Given the description of an element on the screen output the (x, y) to click on. 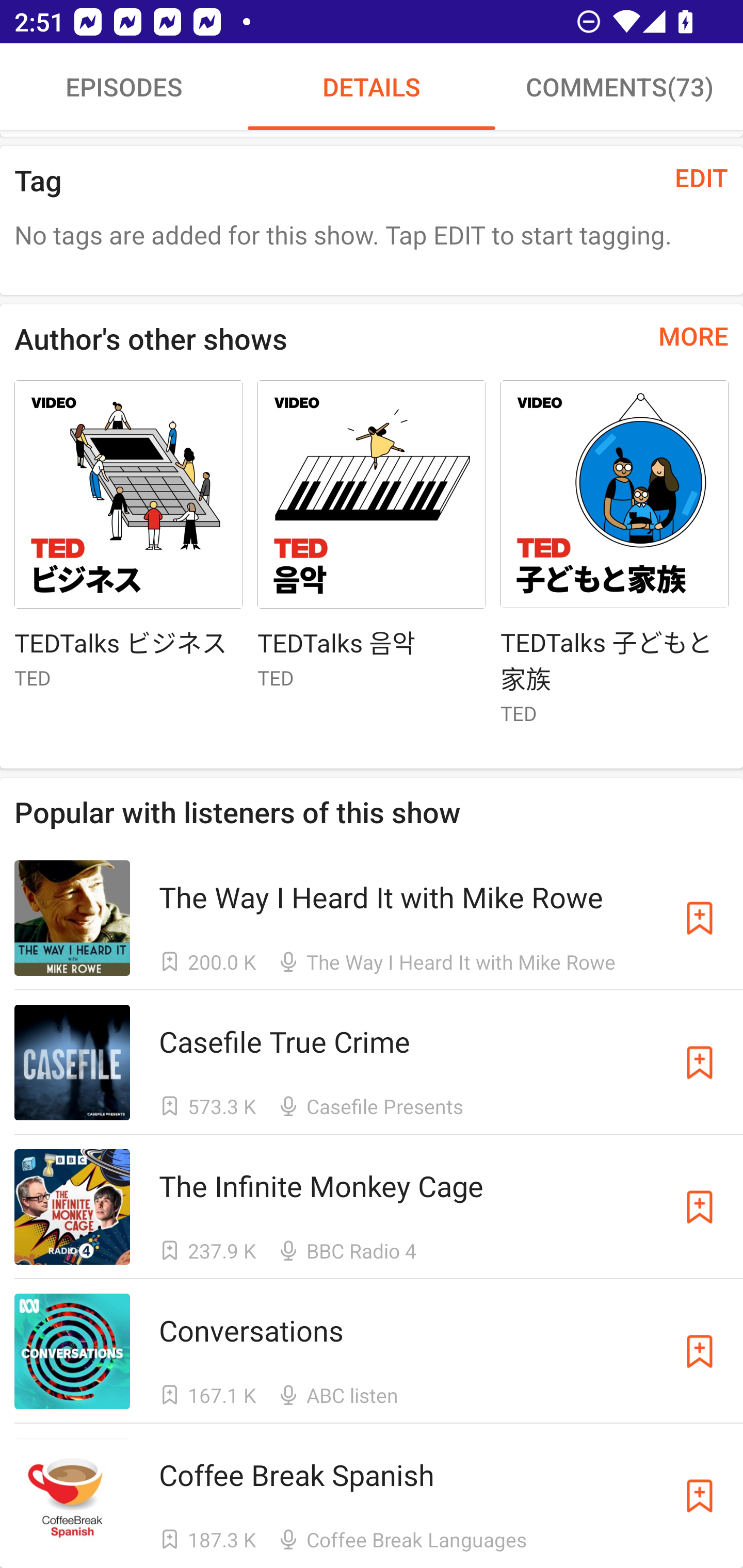
EPISODES (123, 86)
DETAILS (371, 86)
COMMENTS(73) (619, 86)
EDIT (701, 176)
MORE (693, 335)
TEDTalks ビジネス TEDTalks ビジネス TED (128, 542)
TEDTalks 음악 TEDTalks 음악 TED (371, 542)
TEDTalks 子どもと家族 TEDTalks 子どもと家族 TED (614, 560)
Subscribe (699, 917)
Subscribe (699, 1062)
Subscribe (699, 1207)
Subscribe (699, 1351)
Subscribe (699, 1495)
